Given the description of an element on the screen output the (x, y) to click on. 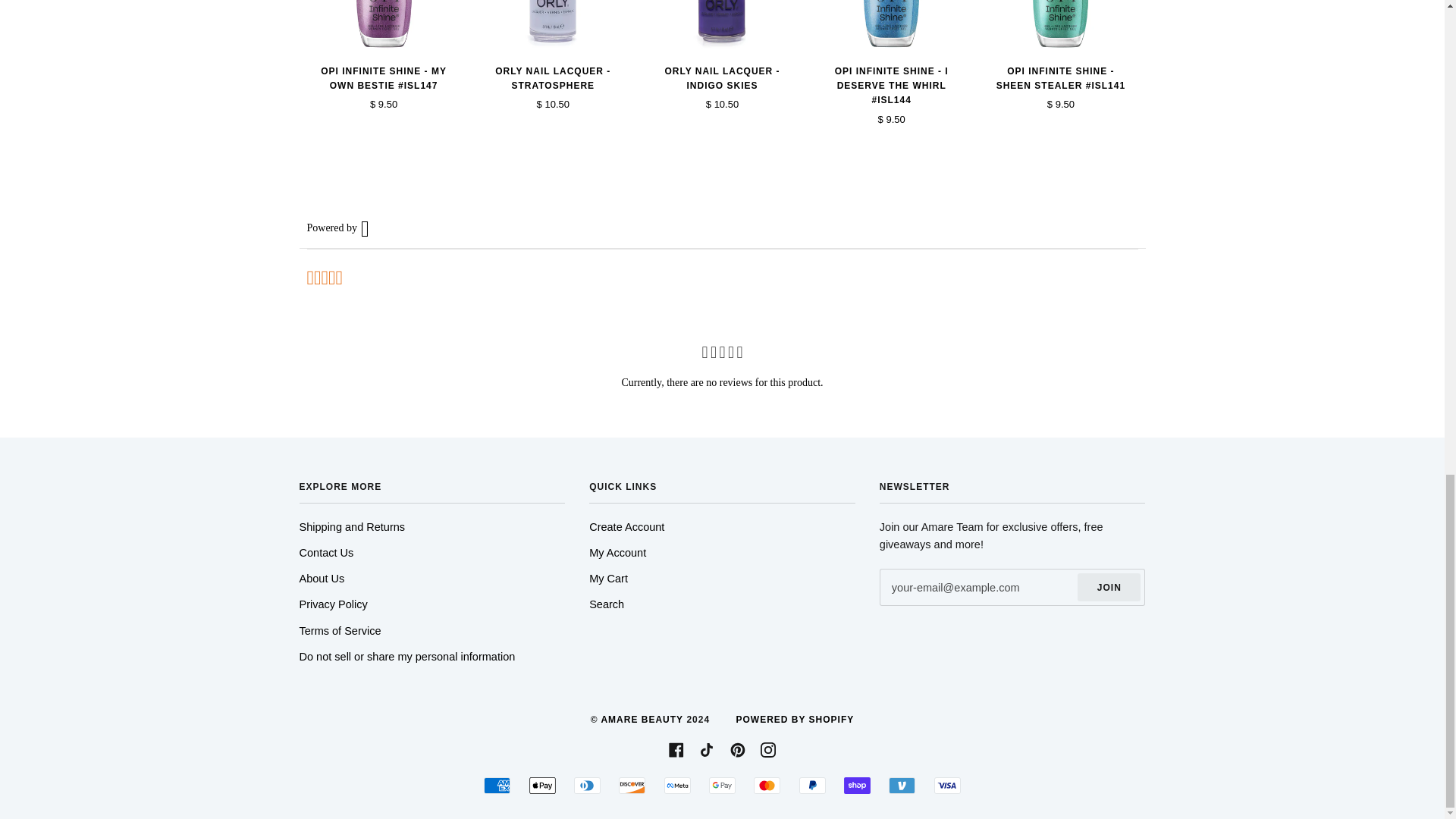
Facebook (676, 749)
APPLE PAY (542, 785)
Instagram (768, 749)
DISCOVER (631, 785)
MASTERCARD (767, 785)
SHOP PAY (857, 785)
AMERICAN EXPRESS (497, 785)
VENMO (901, 785)
DINERS CLUB (586, 785)
GOOGLE PAY (722, 785)
Tiktok (706, 749)
PAYPAL (812, 785)
META PAY (676, 785)
Pinterest (737, 749)
